Given the description of an element on the screen output the (x, y) to click on. 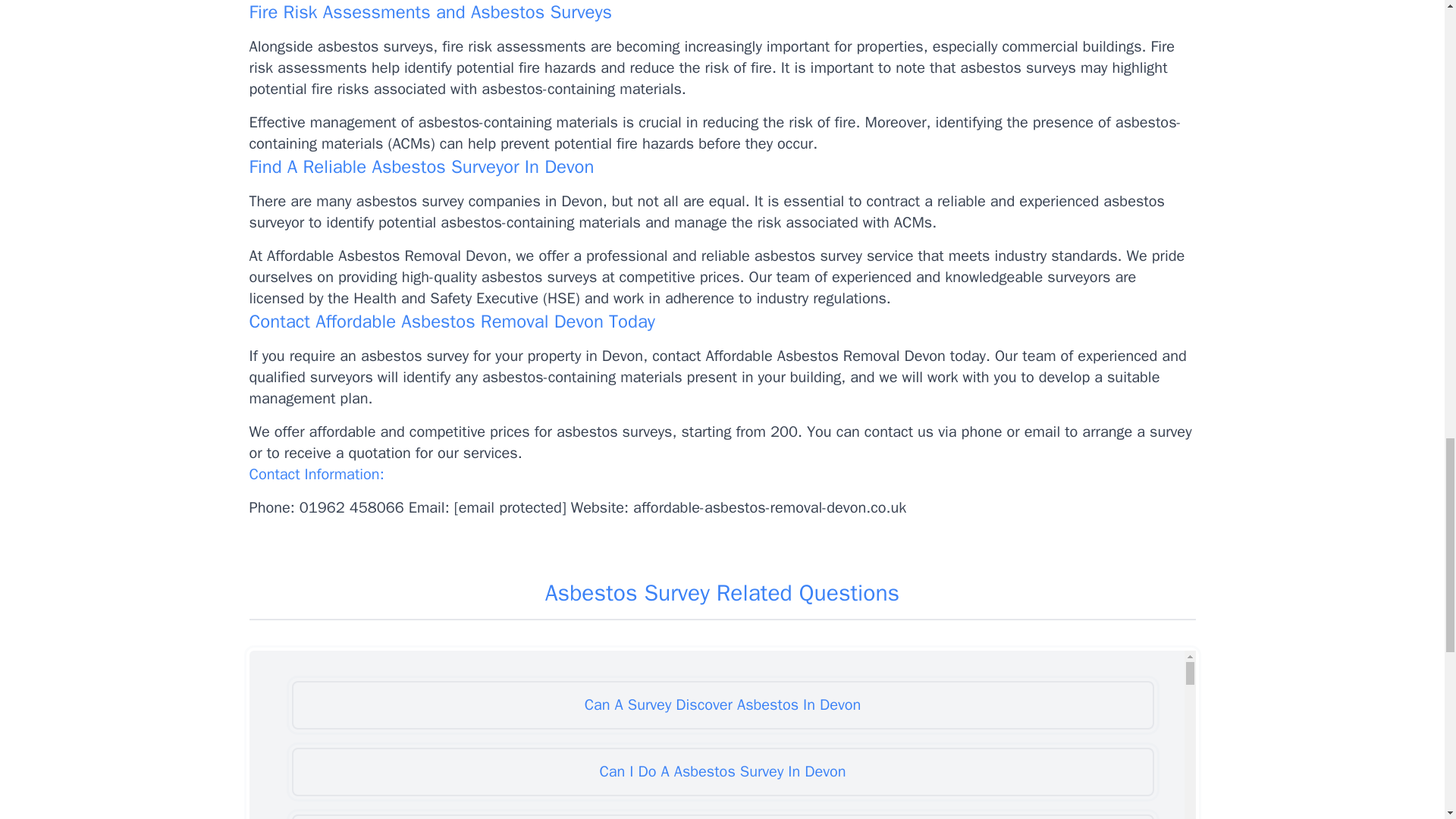
Can I Do A Asbestos Survey In Devon (722, 771)
Can A Survey Discover Asbestos In Devon (722, 704)
